Given the description of an element on the screen output the (x, y) to click on. 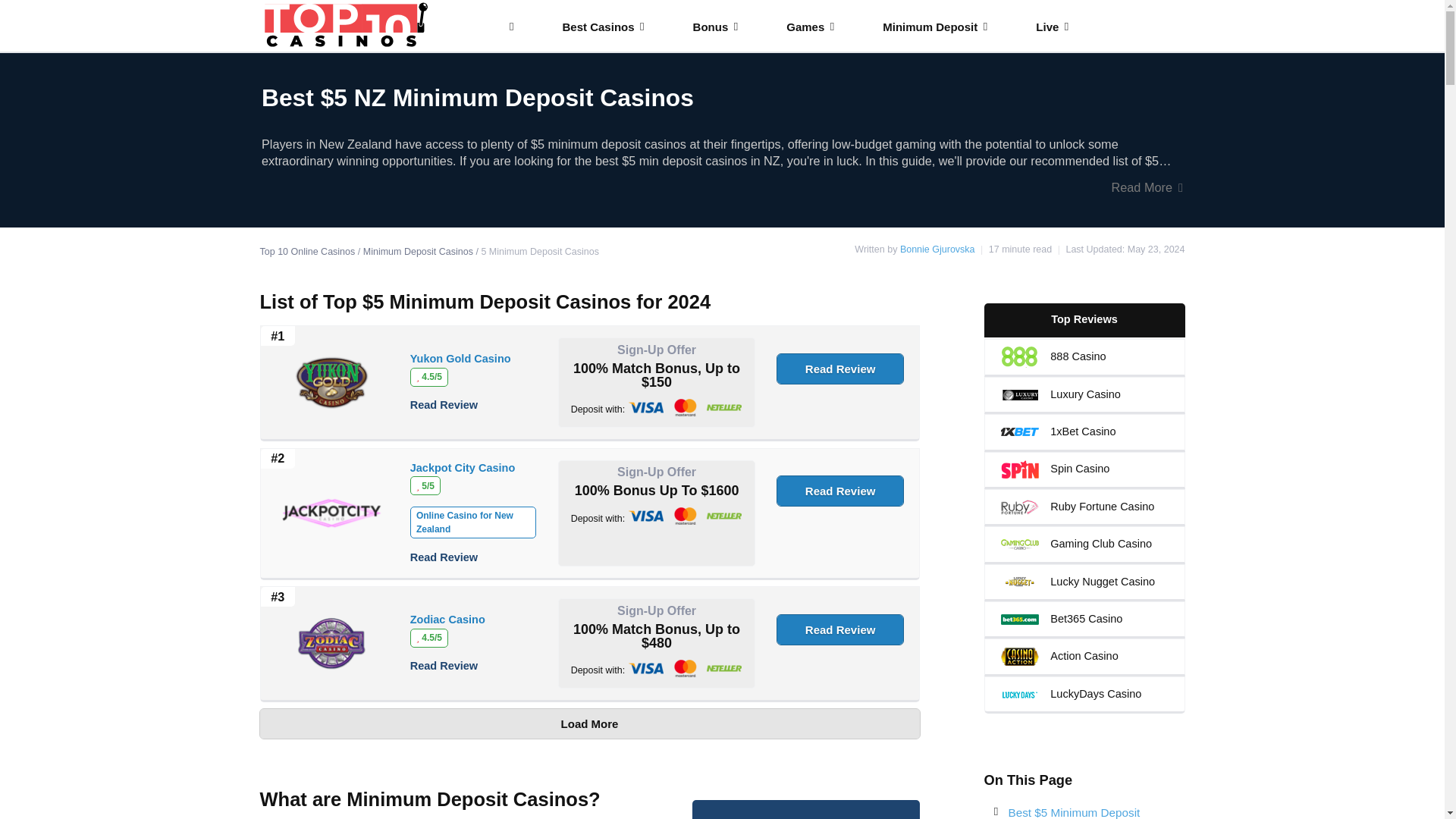
Minimum Deposit Casinos (417, 251)
Yukon Gold Casino (460, 359)
Top 10 Online Casinos (307, 251)
Visa (645, 407)
Read Review (443, 404)
Jackpot City Casino (462, 468)
Read Review (443, 557)
Visa (645, 515)
Visa (645, 668)
Mastercard (685, 515)
Best Casinos (612, 26)
Neteller (723, 668)
Neteller (723, 515)
Read More (722, 188)
Read Review (840, 368)
